Given the description of an element on the screen output the (x, y) to click on. 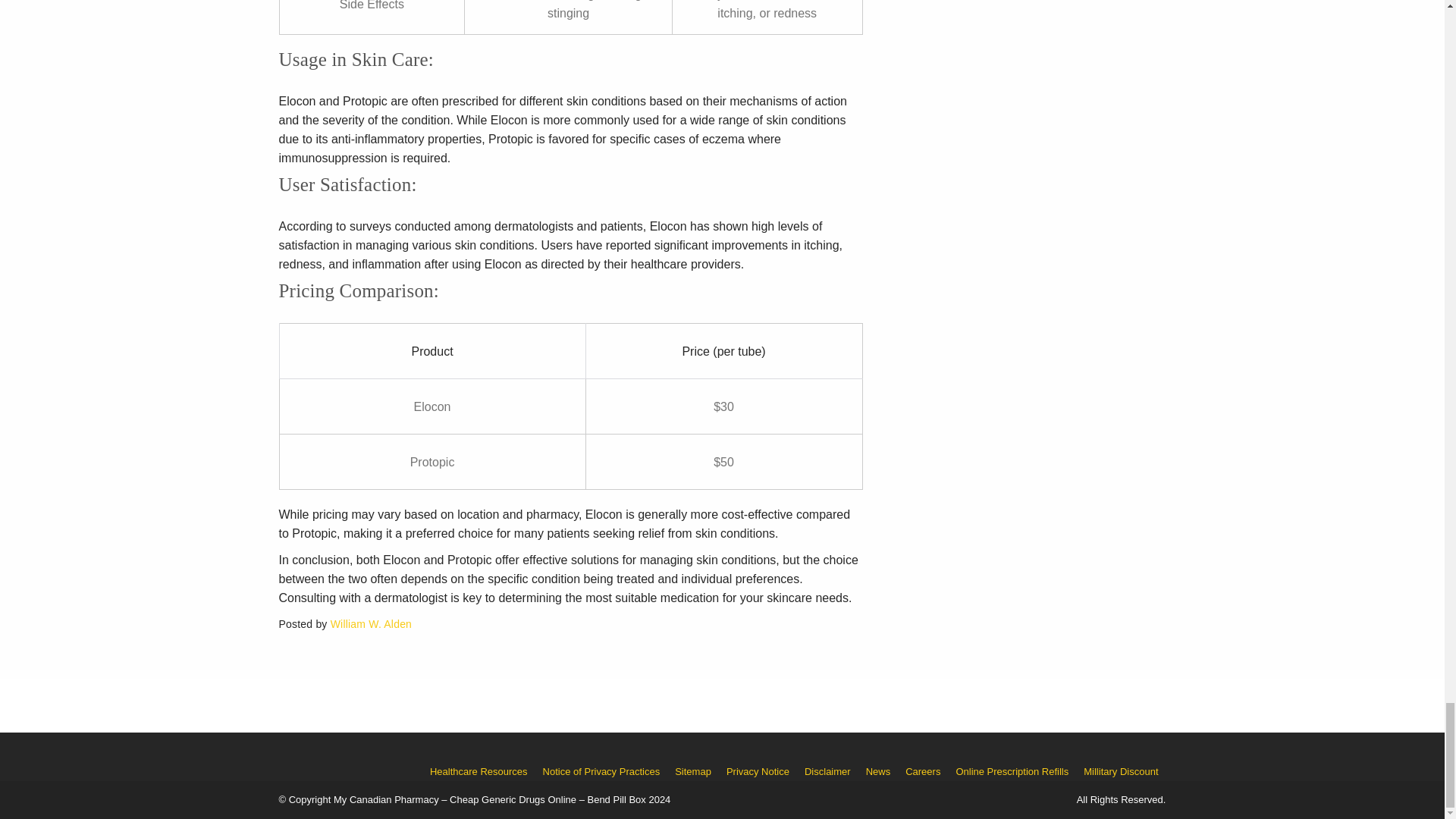
William W. Alden (371, 623)
Posts by William W. Alden (371, 623)
